Given the description of an element on the screen output the (x, y) to click on. 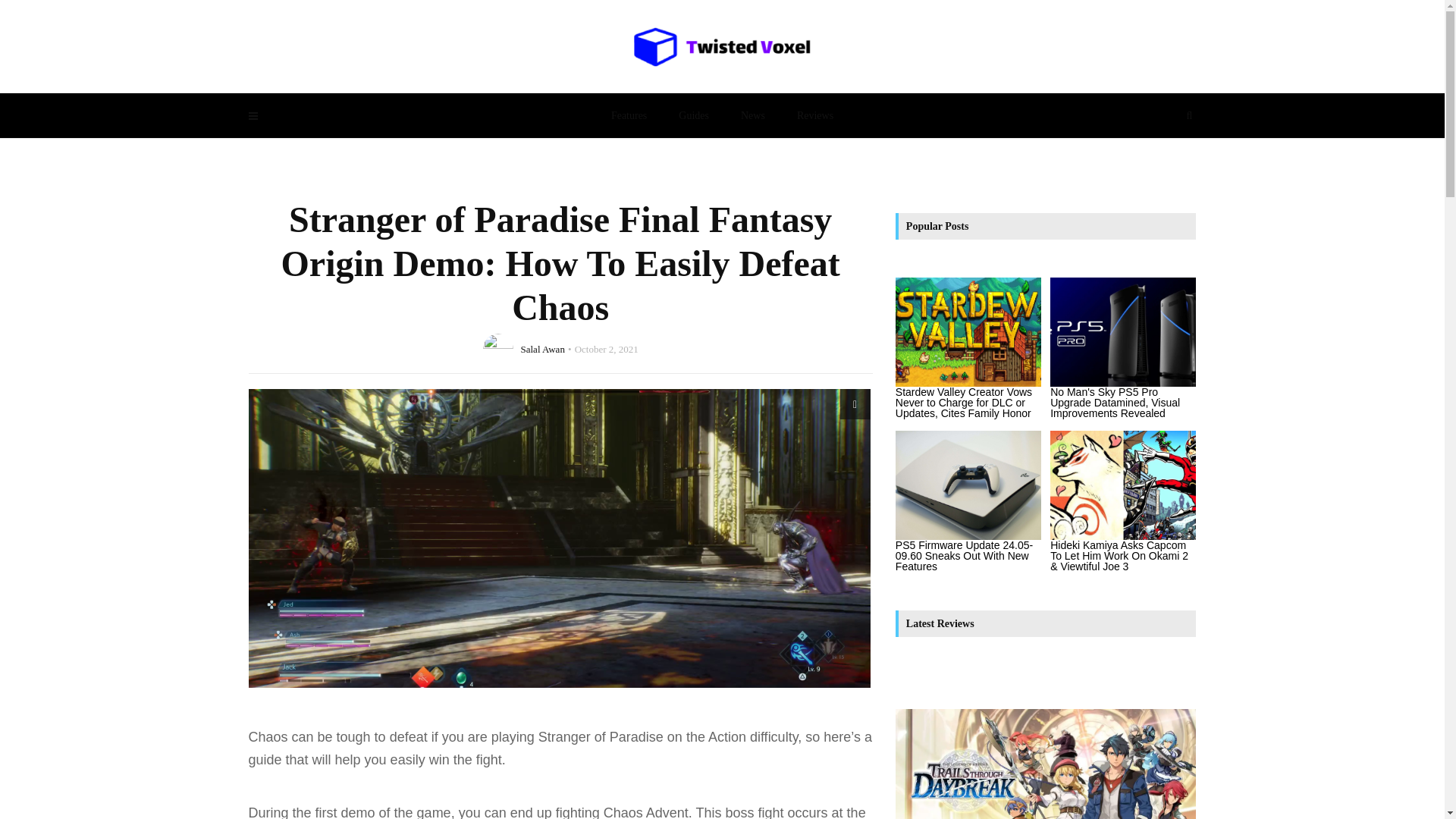
Guides (693, 115)
News (752, 115)
Salal Awan (541, 348)
Features (628, 115)
Reviews (814, 115)
